Given the description of an element on the screen output the (x, y) to click on. 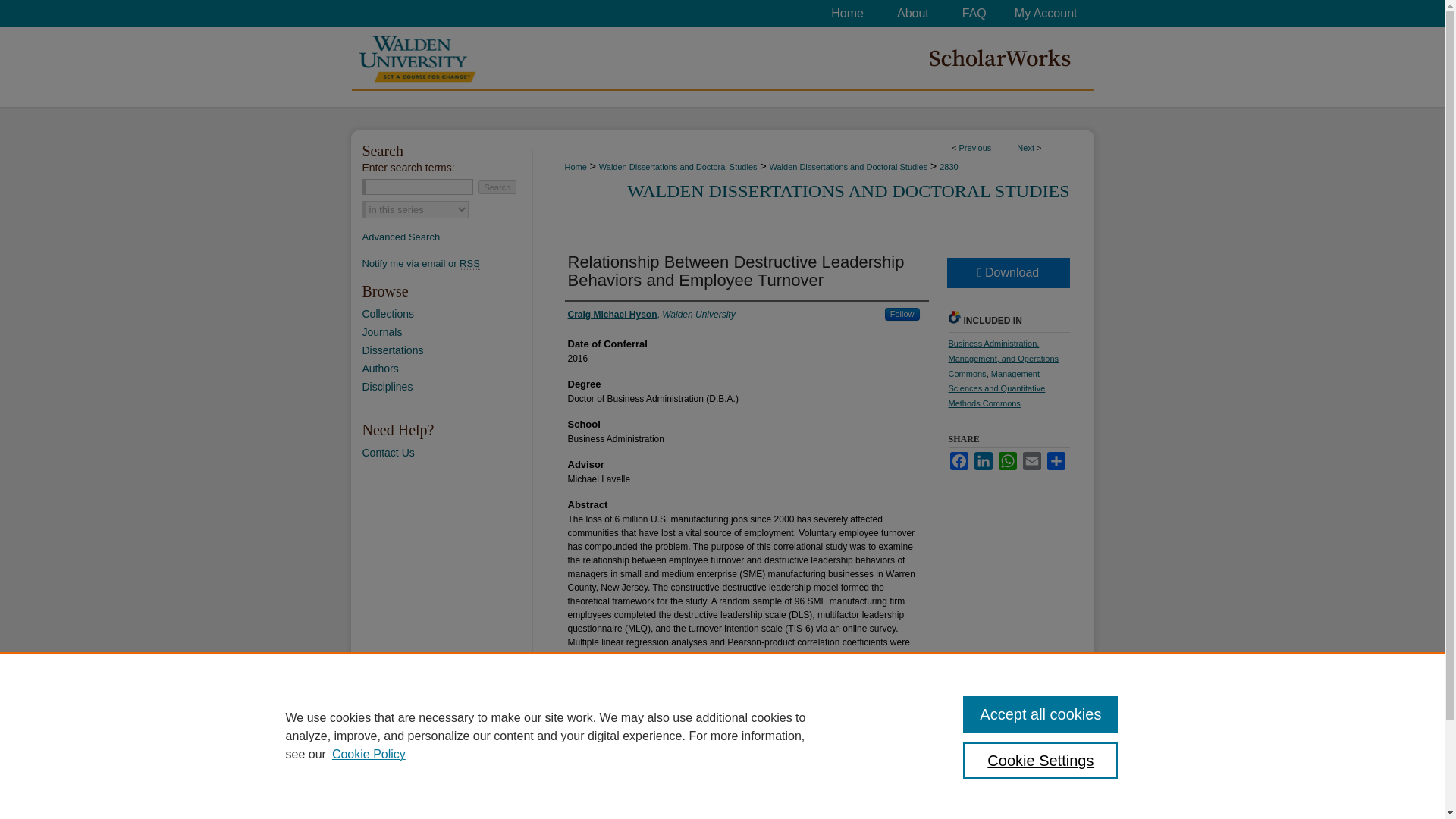
Facebook (958, 461)
Search (496, 187)
Really Simple Syndication (470, 263)
Craig Michael Hyson, Walden University (651, 314)
About (912, 13)
Walden Dissertations and Doctoral Studies (677, 166)
Email or RSS Notifications (447, 263)
Follow Craig Michael Hyson (902, 314)
FAQ (973, 13)
2830 (948, 166)
Home (575, 166)
Download (1007, 272)
WhatsApp (1006, 461)
Notify me via email or RSS (447, 263)
